Given the description of an element on the screen output the (x, y) to click on. 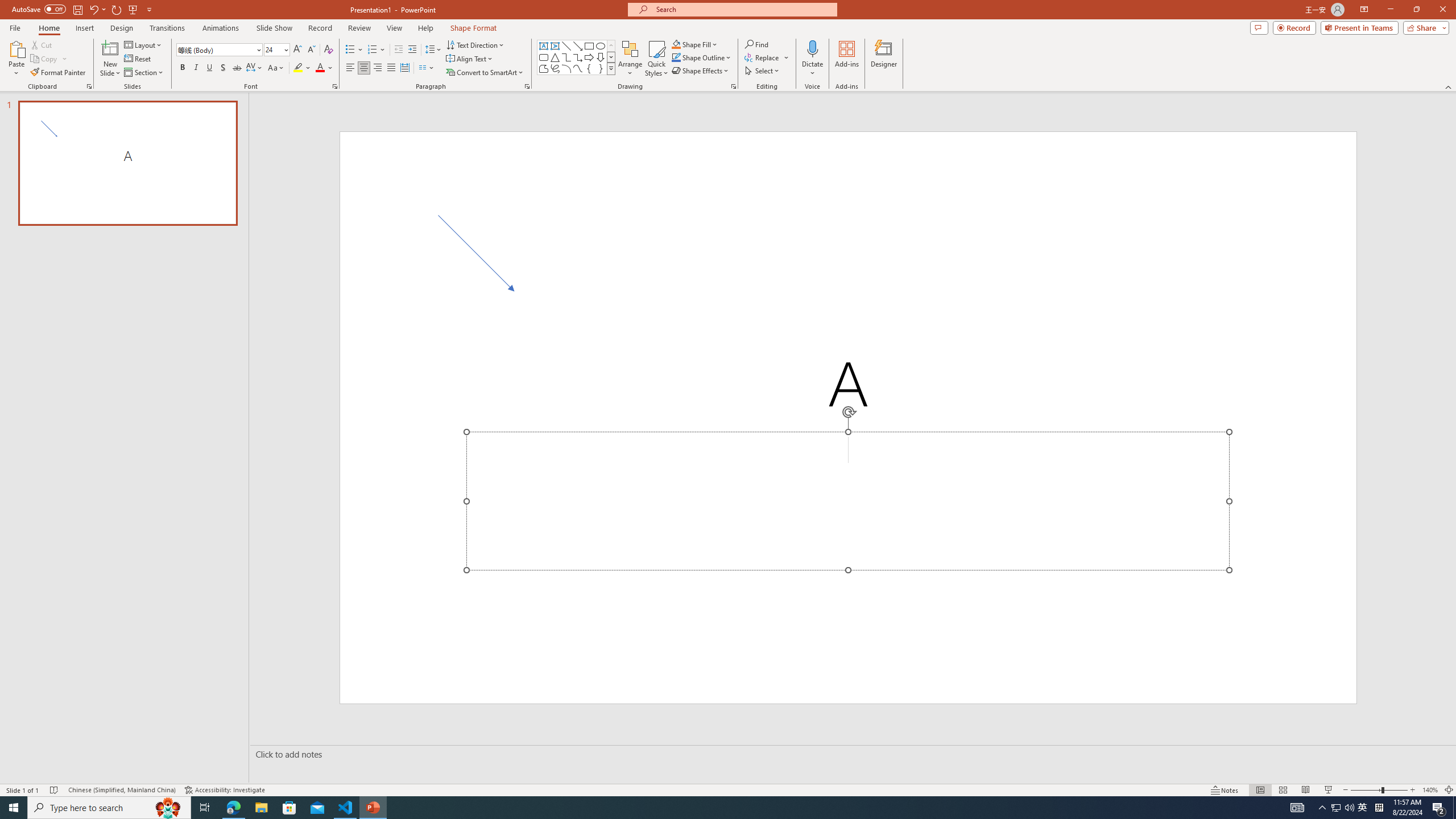
Zoom 140% (1430, 790)
